Given the description of an element on the screen output the (x, y) to click on. 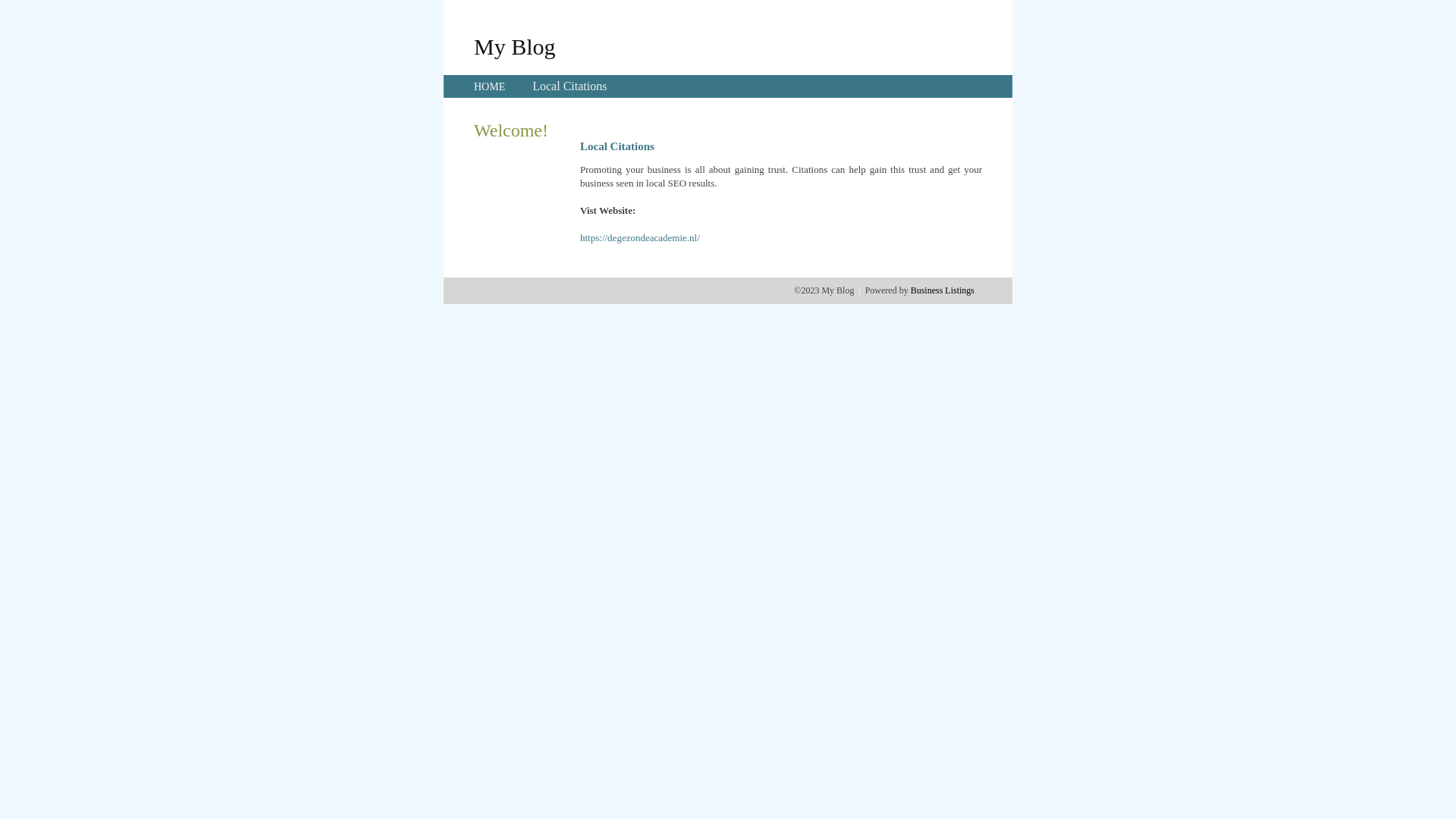
HOME Element type: text (489, 86)
Local Citations Element type: text (569, 85)
https://degezondeacademie.nl/ Element type: text (639, 237)
Business Listings Element type: text (942, 290)
My Blog Element type: text (514, 46)
